Given the description of an element on the screen output the (x, y) to click on. 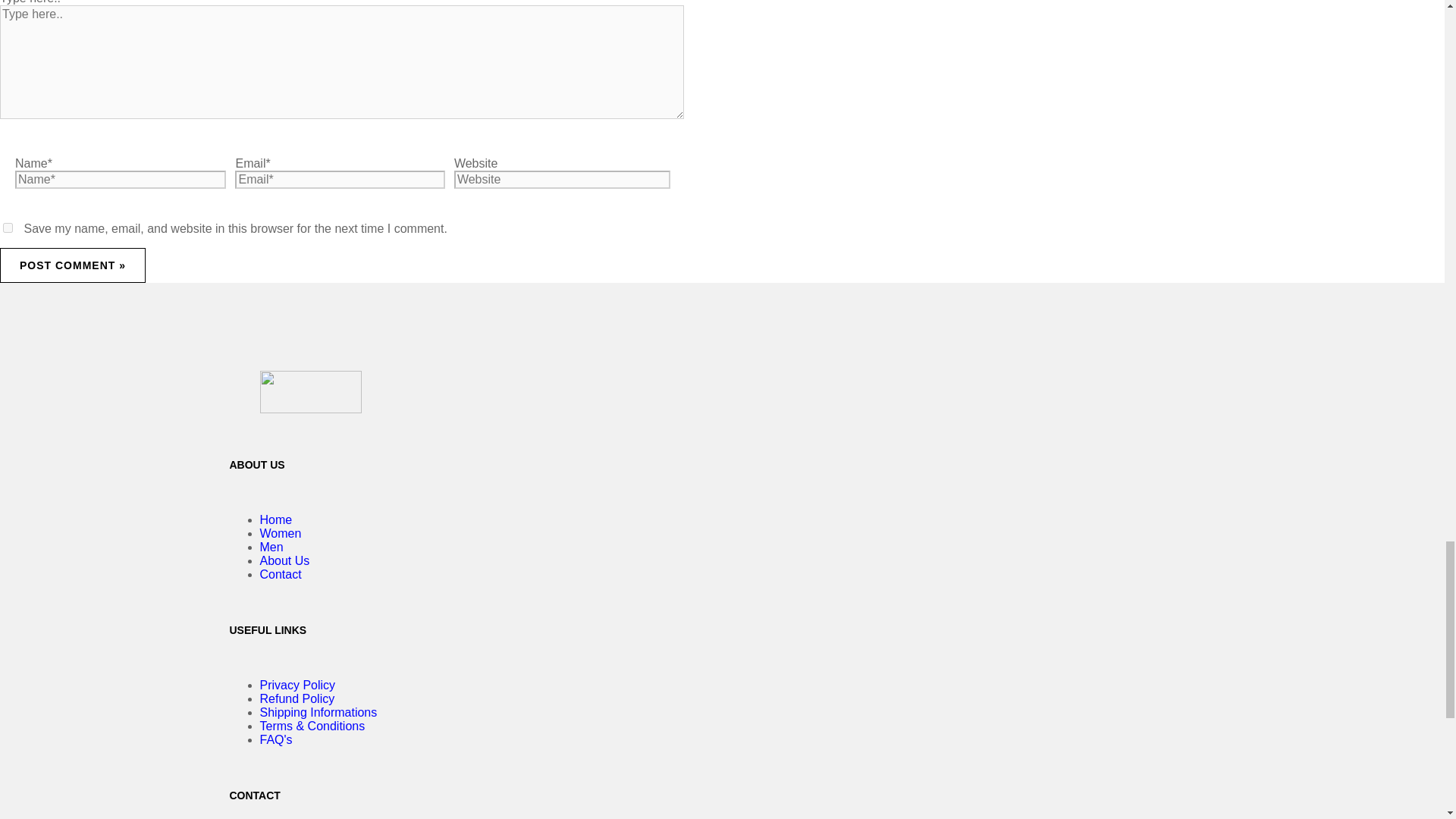
yes (7, 227)
